Given the description of an element on the screen output the (x, y) to click on. 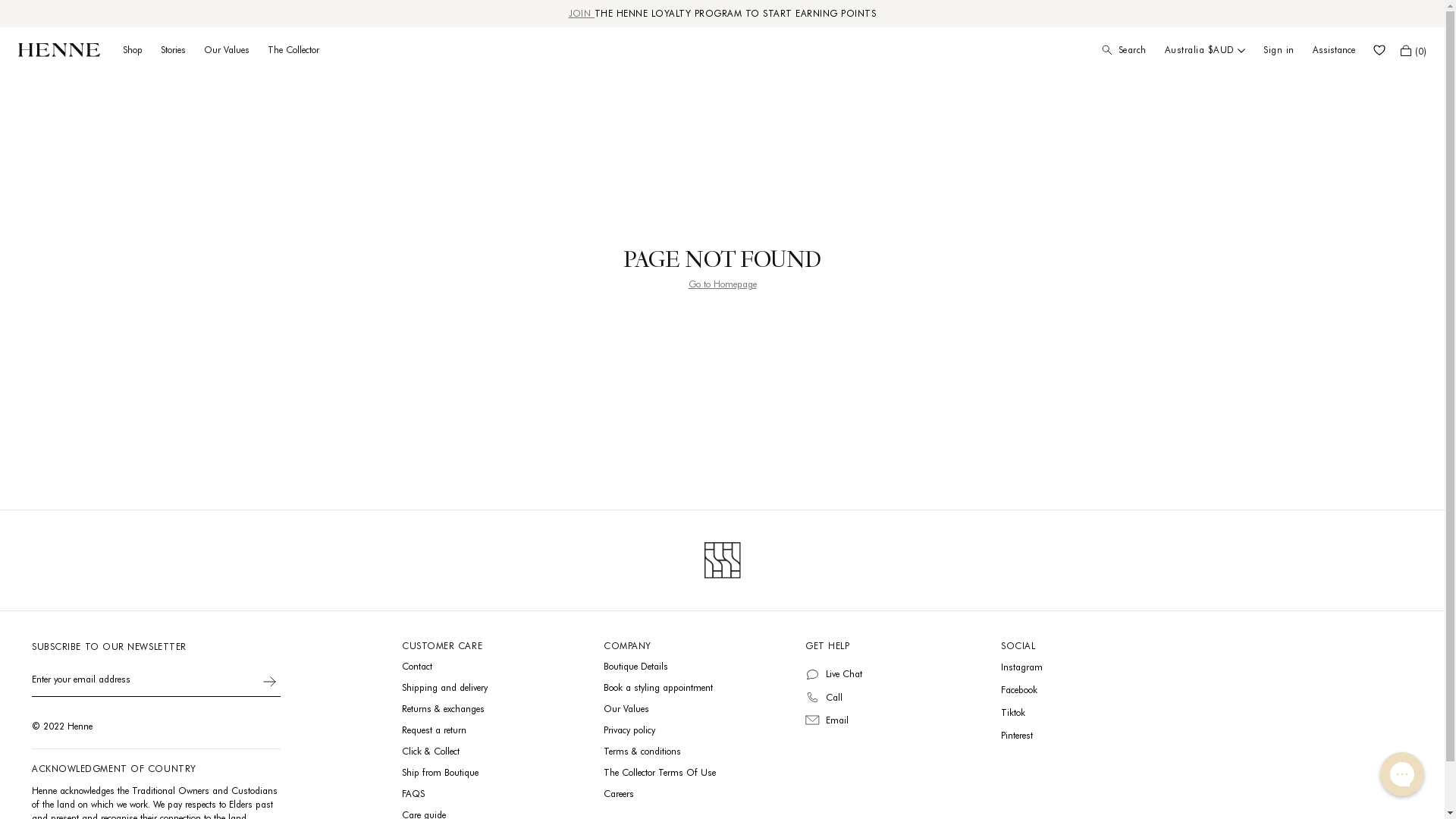
Instagram Element type: text (1021, 667)
Tiktok Element type: text (1013, 712)
Email Element type: text (836, 720)
Go to Homepage Element type: text (722, 283)
Click & Collect Element type: text (430, 750)
(0) Element type: text (1413, 50)
FAQS Element type: text (412, 793)
Book a styling appointment Element type: text (657, 687)
The Collector Element type: text (293, 49)
Stories Element type: text (172, 49)
Ship from Boutique Element type: text (439, 772)
Facebook Element type: text (1019, 689)
Search Element type: text (1123, 49)
Privacy policy Element type: text (629, 729)
Terms & conditions Element type: text (641, 750)
Pinterest Element type: text (1016, 735)
Careers Element type: text (618, 793)
Shipping and delivery Element type: text (444, 687)
JOIN Element type: text (581, 12)
The Collector Terms Of Use Element type: text (659, 772)
Assistance Element type: text (1333, 49)
Sign in Element type: text (1278, 49)
Returns & exchanges Element type: text (442, 708)
Request a return Element type: text (433, 729)
Our Values Element type: text (226, 49)
Contact Element type: text (416, 665)
Call Element type: text (833, 697)
Our Values Element type: text (626, 708)
Shop Element type: text (132, 49)
Boutique Details Element type: text (635, 665)
